Given the description of an element on the screen output the (x, y) to click on. 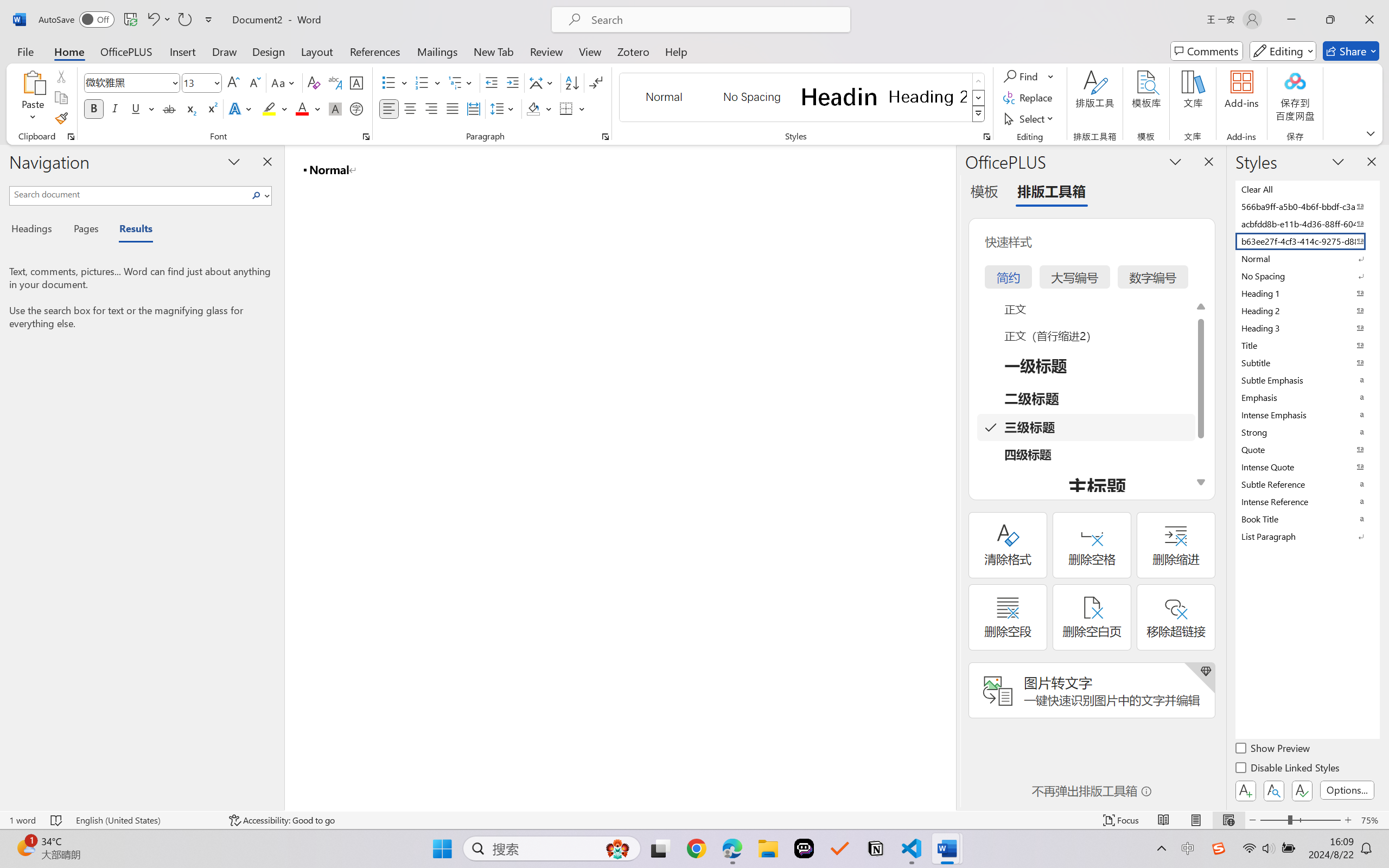
Bold (94, 108)
Layout (316, 51)
Cut (60, 75)
Customize Quick Access Toolbar (208, 19)
Distributed (473, 108)
Class: NetUIScrollBar (948, 477)
Select (1030, 118)
Bullets (388, 82)
Class: MsoCommandBar (694, 819)
Subtle Reference (1306, 484)
Class: Image (1218, 847)
Comments (1206, 50)
Undo <ApplyStyleToDoc>b__0 (158, 19)
